Given the description of an element on the screen output the (x, y) to click on. 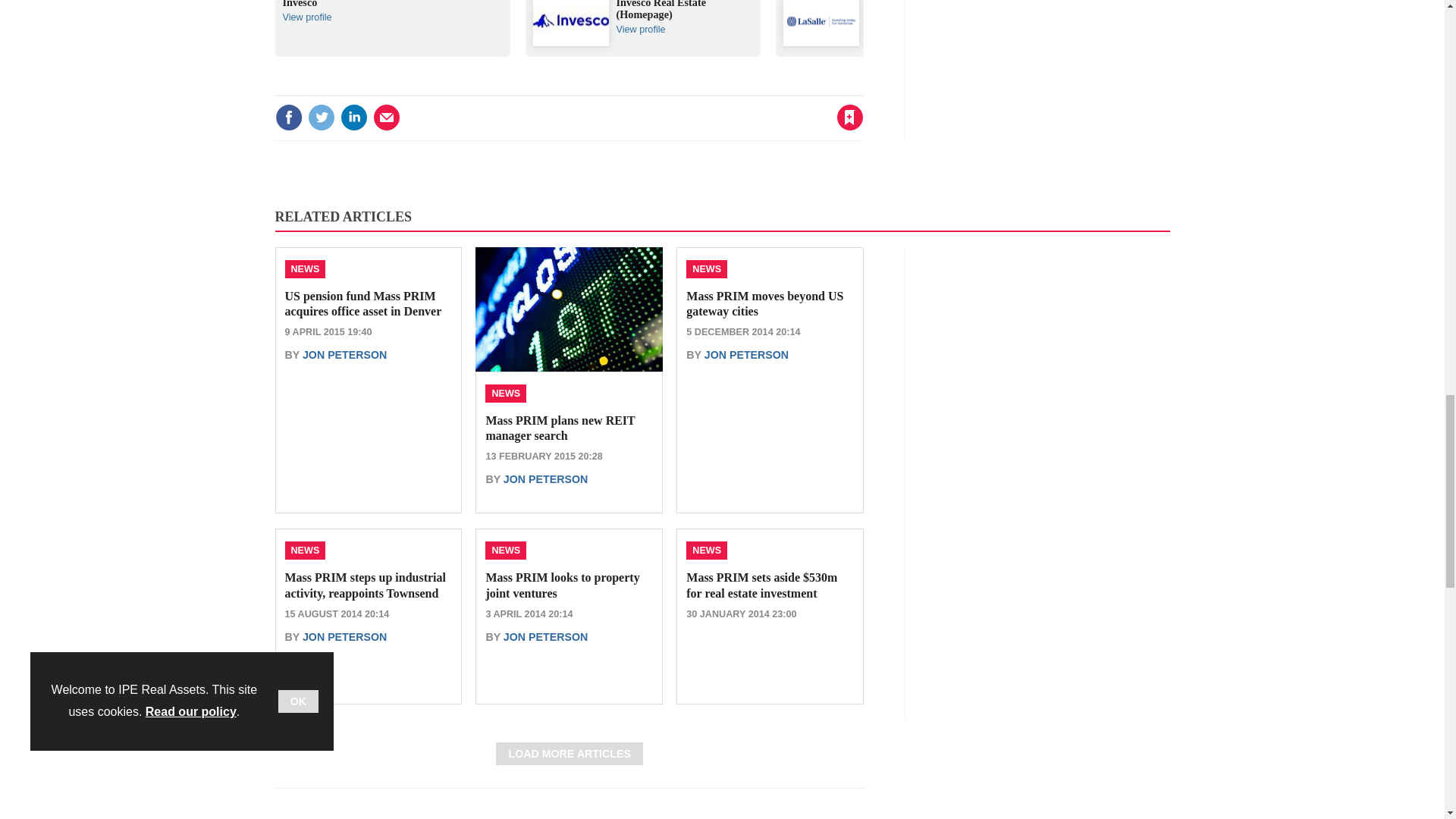
Share this on Linked in (352, 117)
Email this article (386, 117)
Share this on Facebook (288, 117)
Share this on Twitter (320, 117)
